Given the description of an element on the screen output the (x, y) to click on. 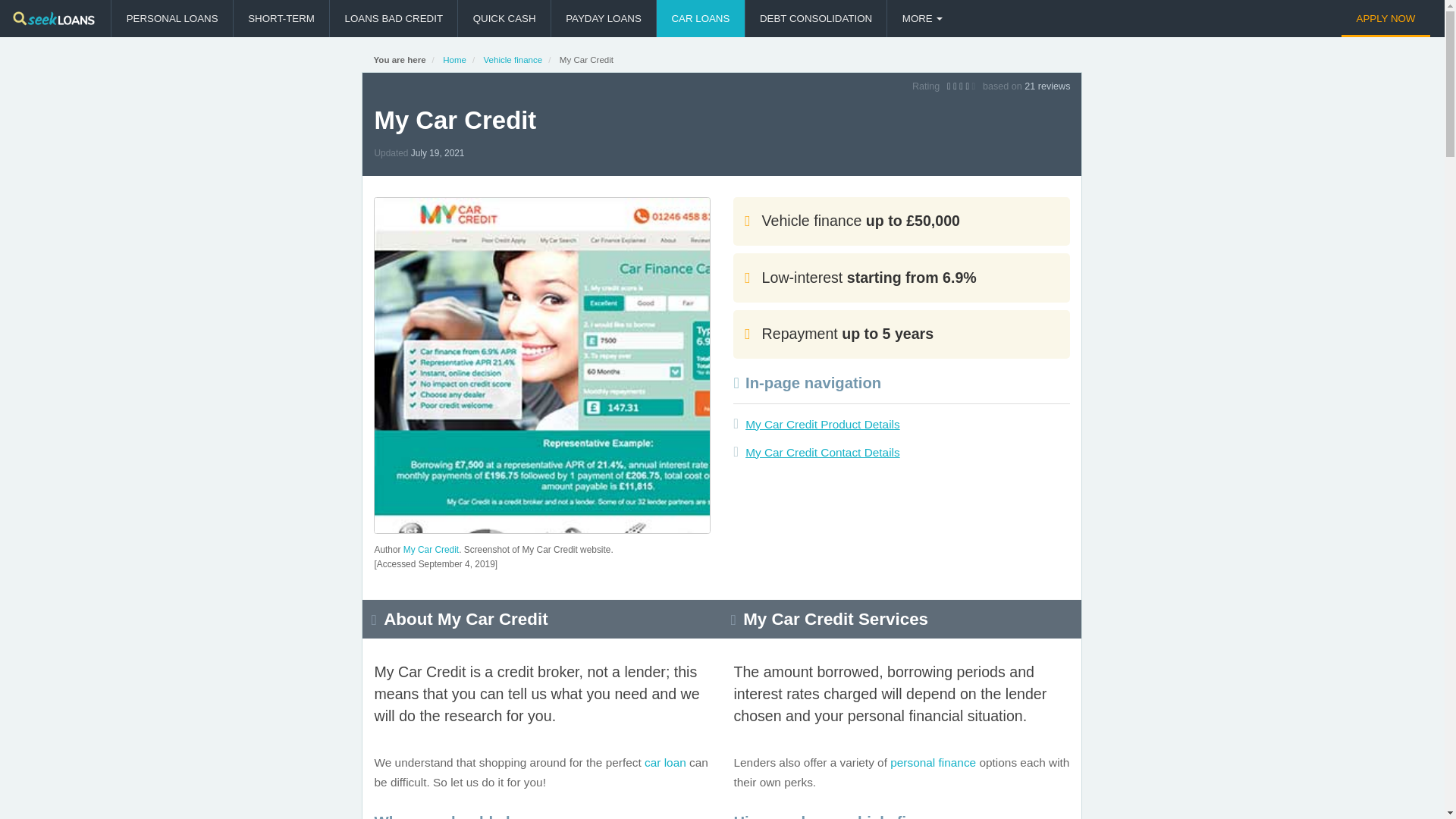
SHORT-TERM (280, 18)
MORE (921, 18)
APPLY NOW (1384, 18)
Home (453, 59)
My Car Credit (430, 549)
car loan (665, 762)
PAYDAY LOANS (603, 18)
PERSONAL LOANS (171, 18)
DEBT CONSOLIDATION (815, 18)
My Car Credit Contact Details (822, 451)
QUICK CASH (504, 18)
CAR LOANS (700, 18)
LOANS BAD CREDIT (393, 18)
Vehicle finance (513, 59)
personal finance (932, 762)
